Given the description of an element on the screen output the (x, y) to click on. 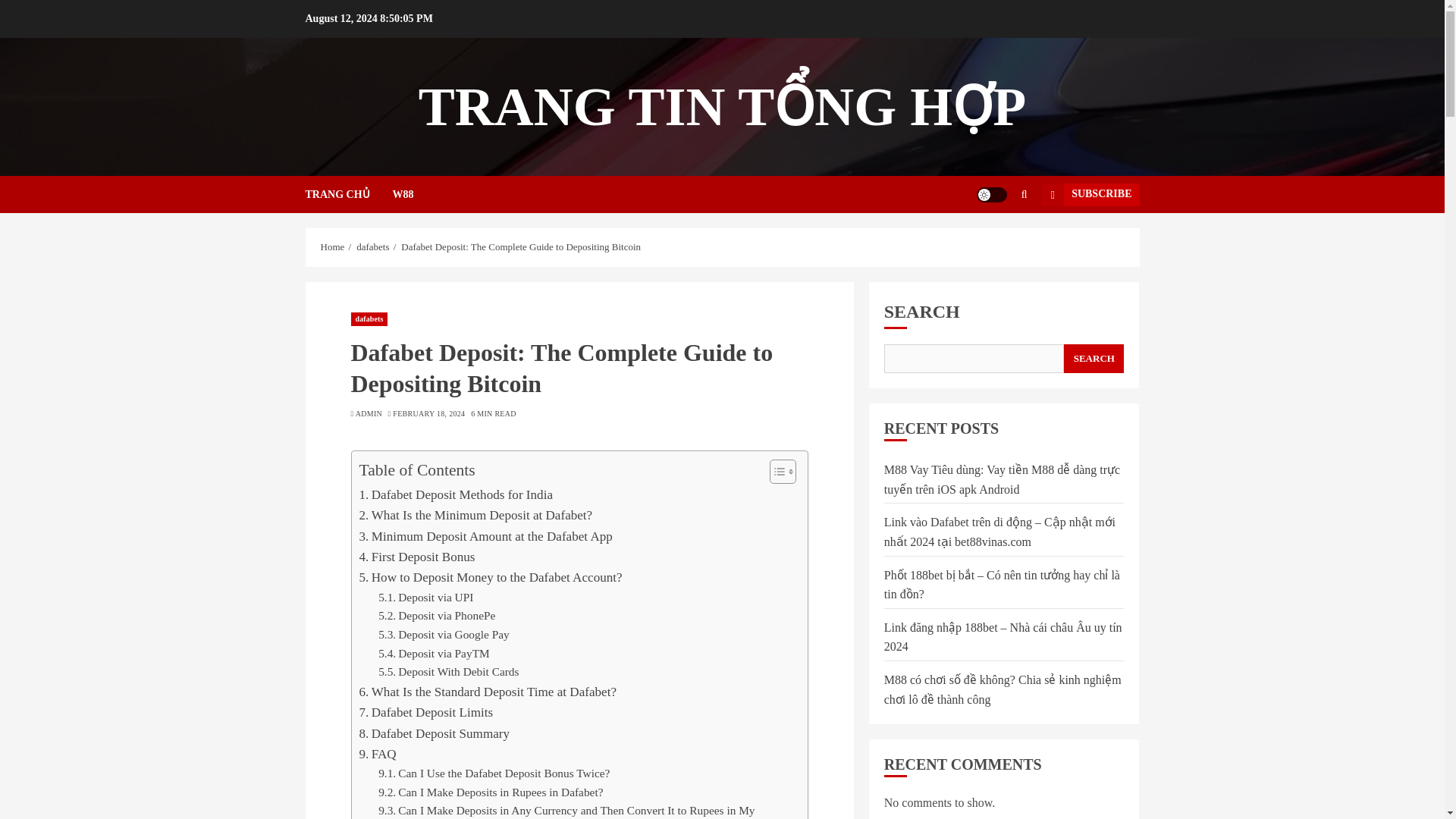
Minimum Deposit Amount at the Dafabet App (485, 536)
First Deposit Bonus (417, 557)
How to Deposit Money to the Dafabet Account? (491, 577)
FEBRUARY 18, 2024 (428, 413)
Can I Use the Dafabet Deposit Bonus Twice? (494, 773)
Deposit via PhonePe (436, 615)
Dafabet Deposit: The Complete Guide to Depositing Bitcoin (520, 246)
Deposit With Debit Cards (448, 671)
Deposit via PayTM (433, 653)
ADMIN (368, 413)
